Given the description of an element on the screen output the (x, y) to click on. 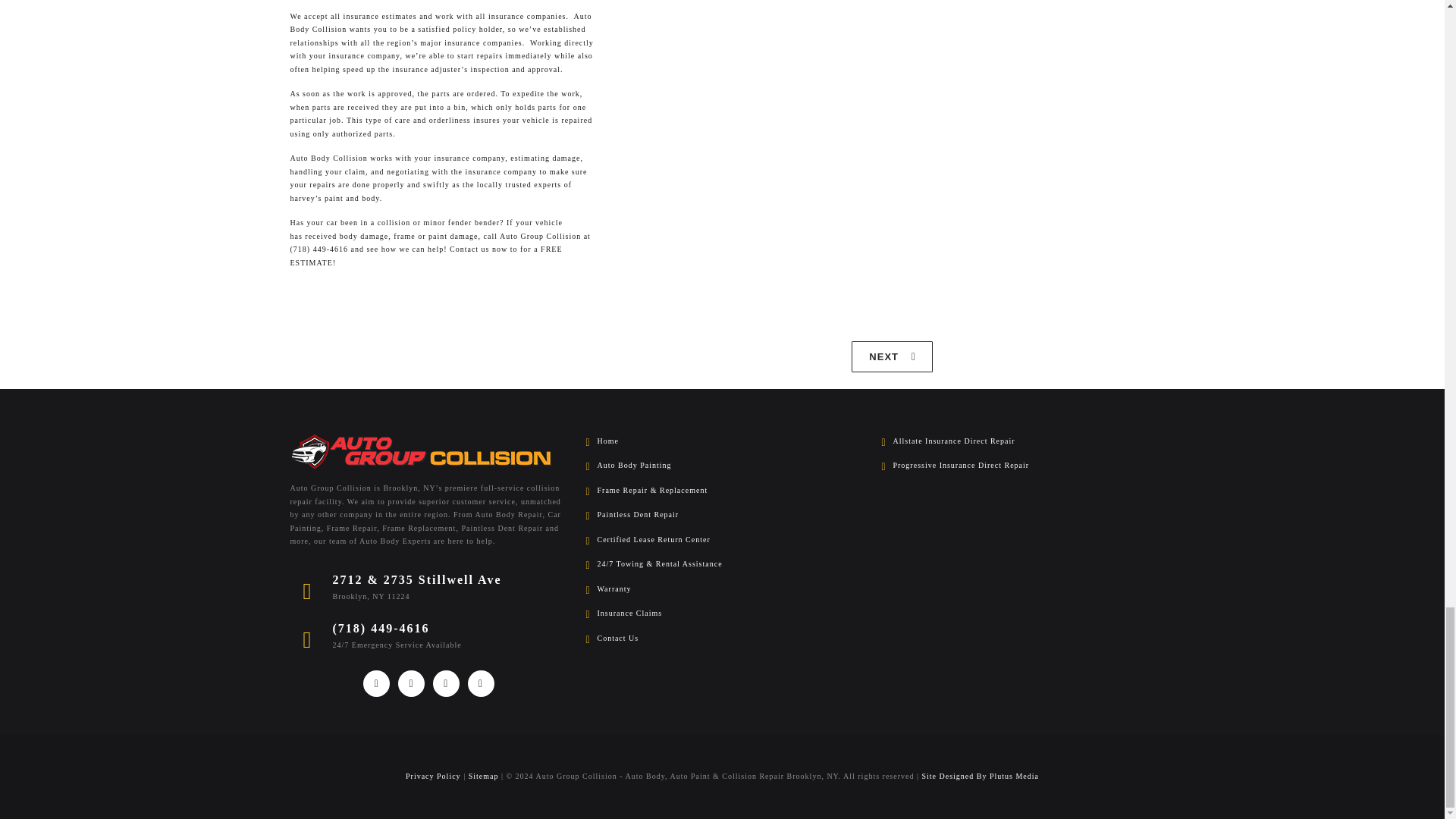
tesla body repair new york (892, 356)
received body damage (346, 234)
